Given the description of an element on the screen output the (x, y) to click on. 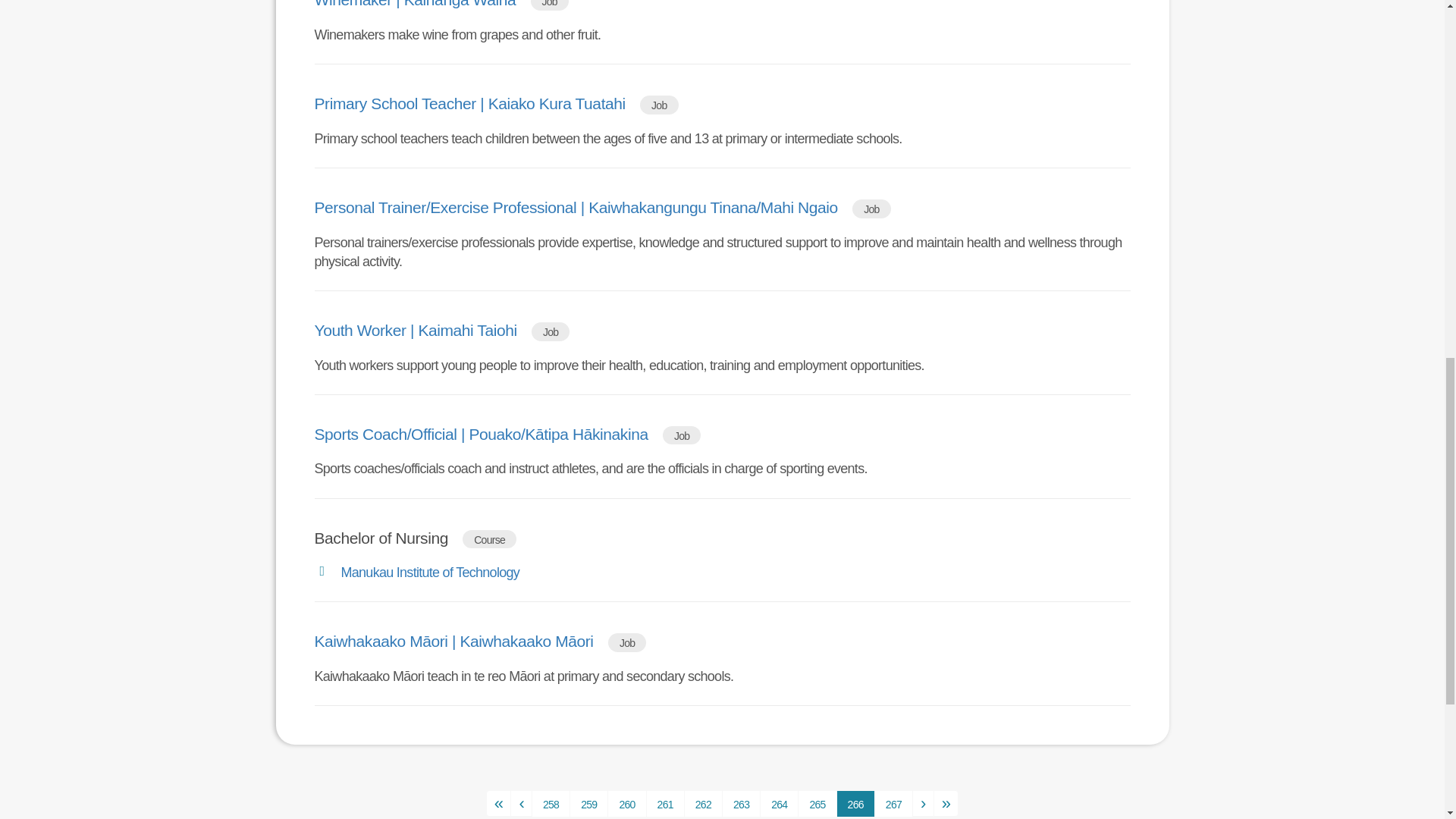
View page number 261 (665, 803)
View page number 265 (816, 803)
View page number 258 (550, 803)
View page number 264 (778, 803)
View page number 262 (703, 803)
View page number 266 (855, 803)
View page number 267 (893, 803)
View page number 263 (741, 803)
View page number 259 (588, 803)
View page number 260 (626, 803)
